Given the description of an element on the screen output the (x, y) to click on. 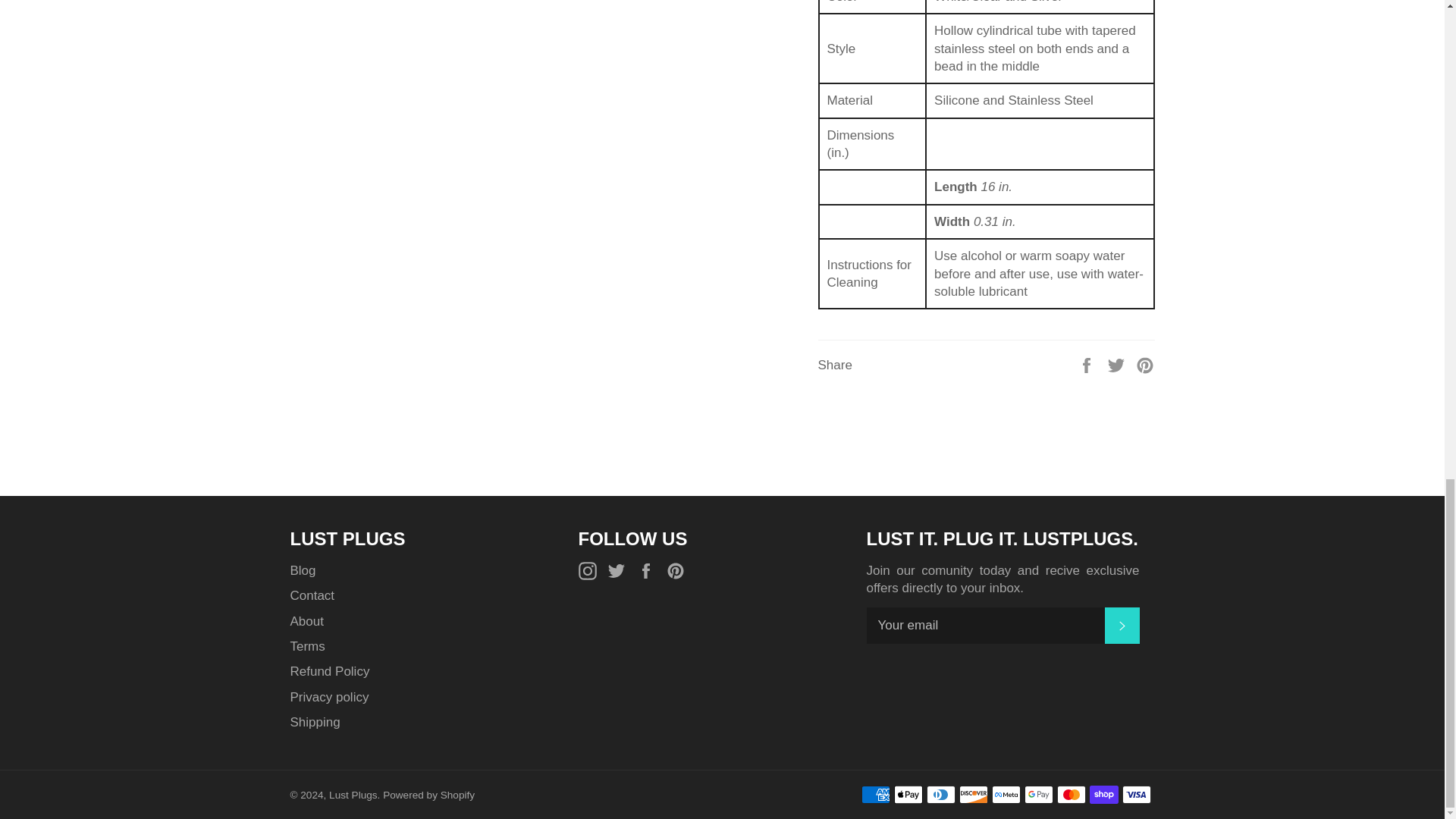
Lust Plugs on Facebook (649, 570)
Share on Facebook (1088, 364)
Lust Plugs on Instagram (591, 570)
Lust Plugs on Twitter (620, 570)
Tweet on Twitter (1117, 364)
Lust Plugs on Pinterest (679, 570)
Pin on Pinterest (1144, 364)
